Given the description of an element on the screen output the (x, y) to click on. 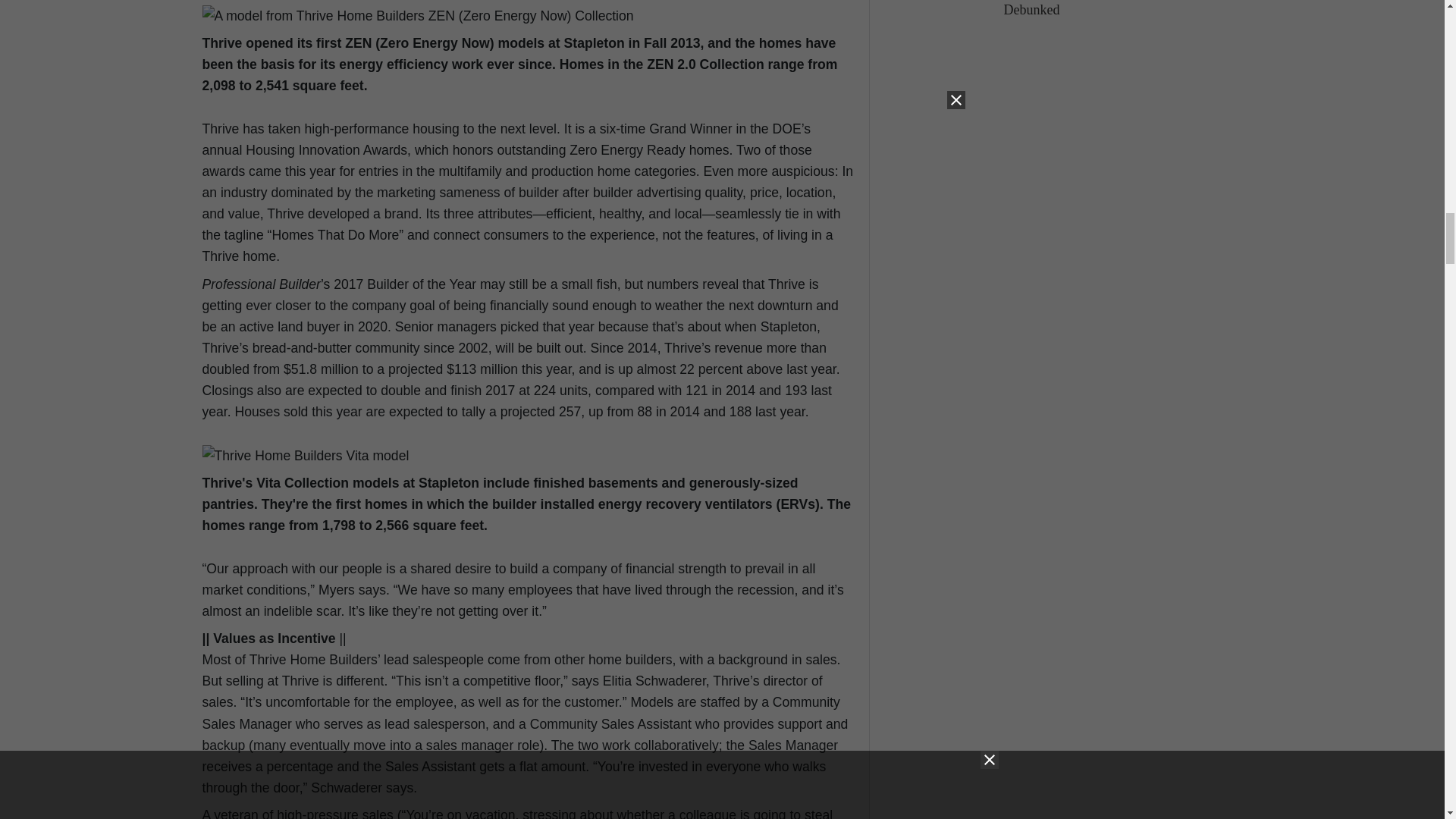
3rd party ad content (1130, 643)
